Given the description of an element on the screen output the (x, y) to click on. 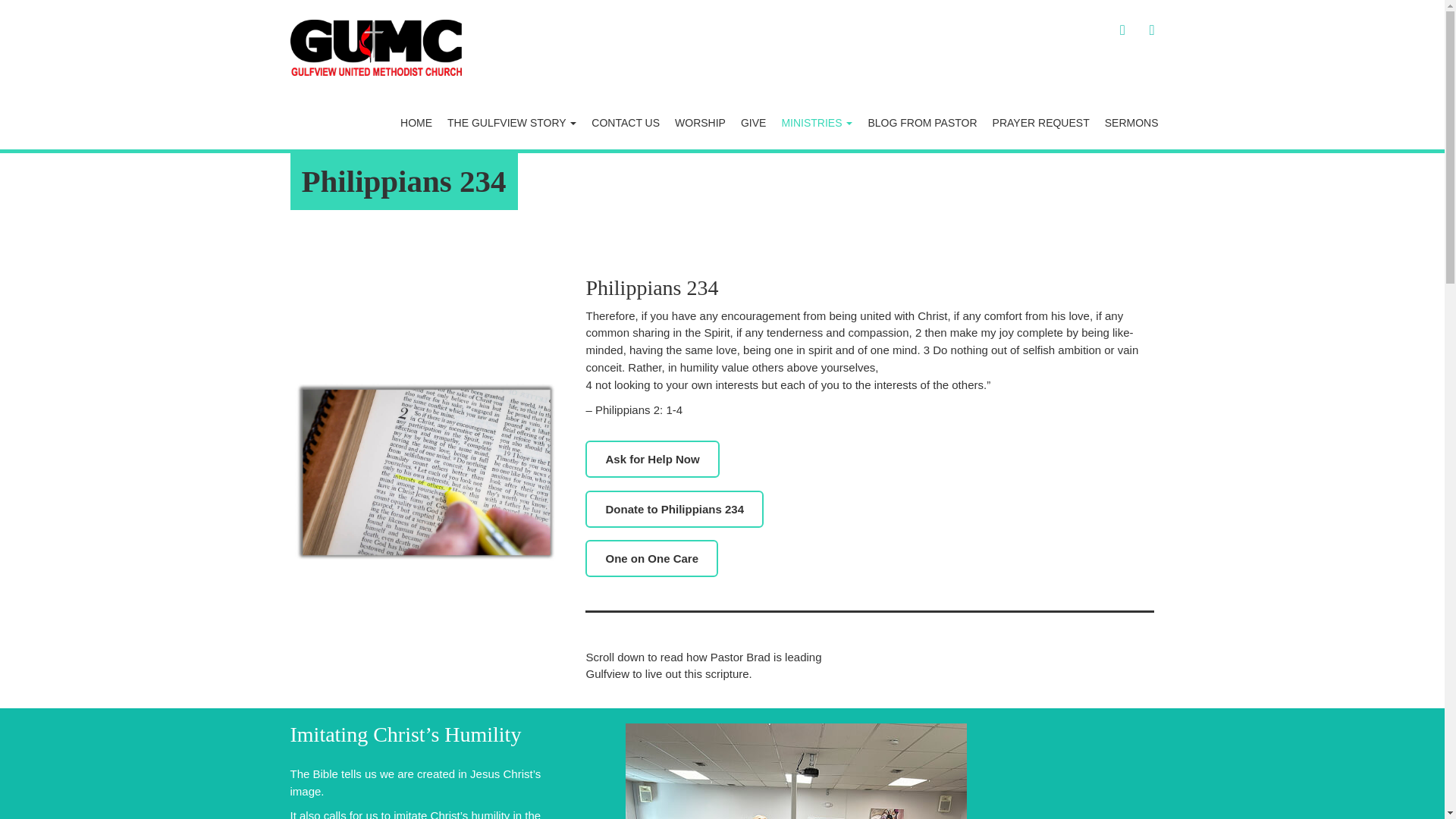
WORSHIP (699, 122)
SERMONS (1131, 122)
One on One Care (651, 558)
PRAYER REQUEST (1041, 122)
THE GULFVIEW STORY (511, 122)
MINISTRIES (816, 122)
Ask for Help Now (652, 458)
Donate to Philippians 234 (673, 508)
HOME (416, 122)
CONTACT US (624, 122)
